Given the description of an element on the screen output the (x, y) to click on. 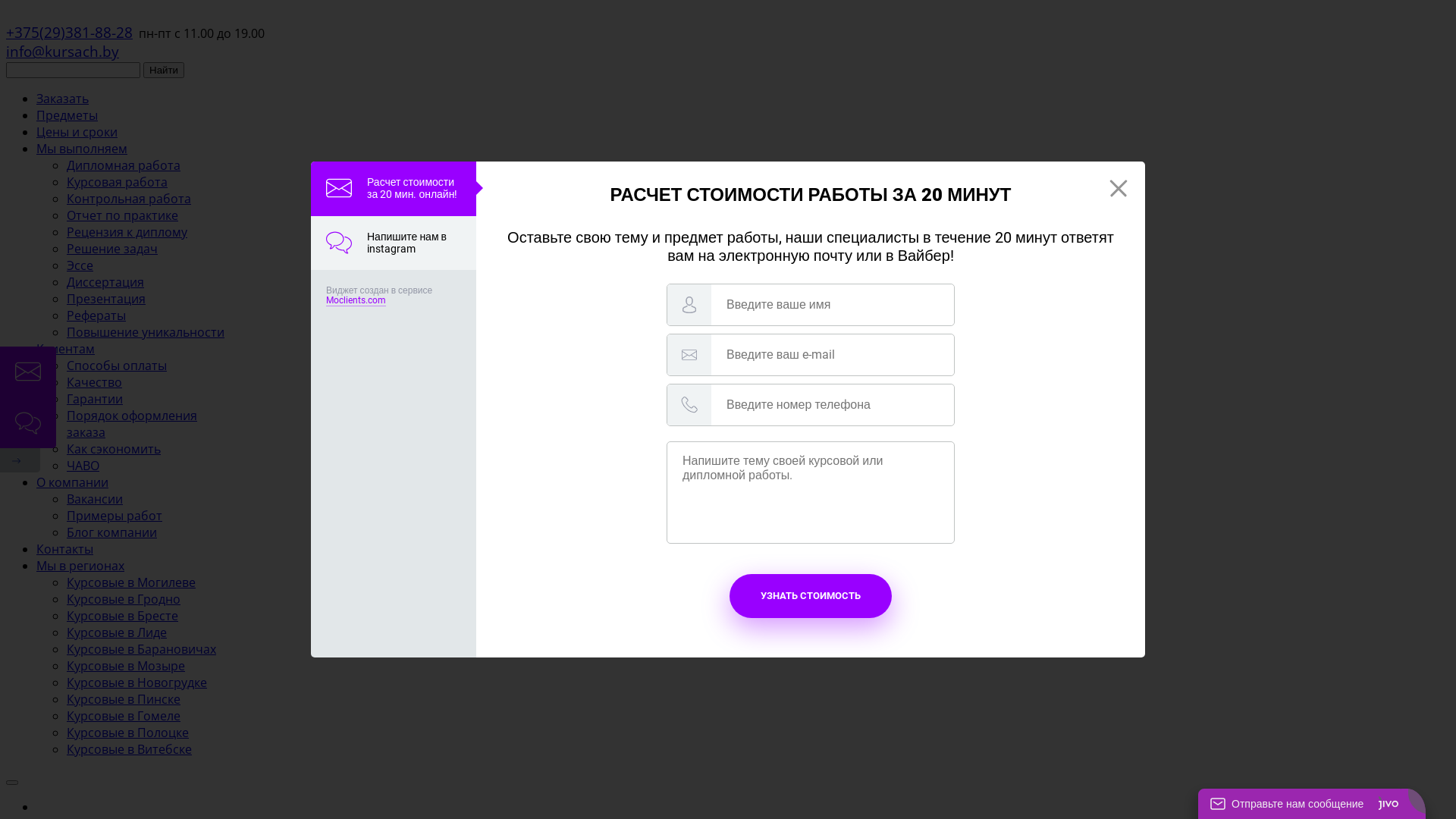
Moclients.com Element type: text (355, 300)
+375(29)381-88-28 Element type: text (69, 33)
info@kursach.by Element type: text (62, 50)
